Given the description of an element on the screen output the (x, y) to click on. 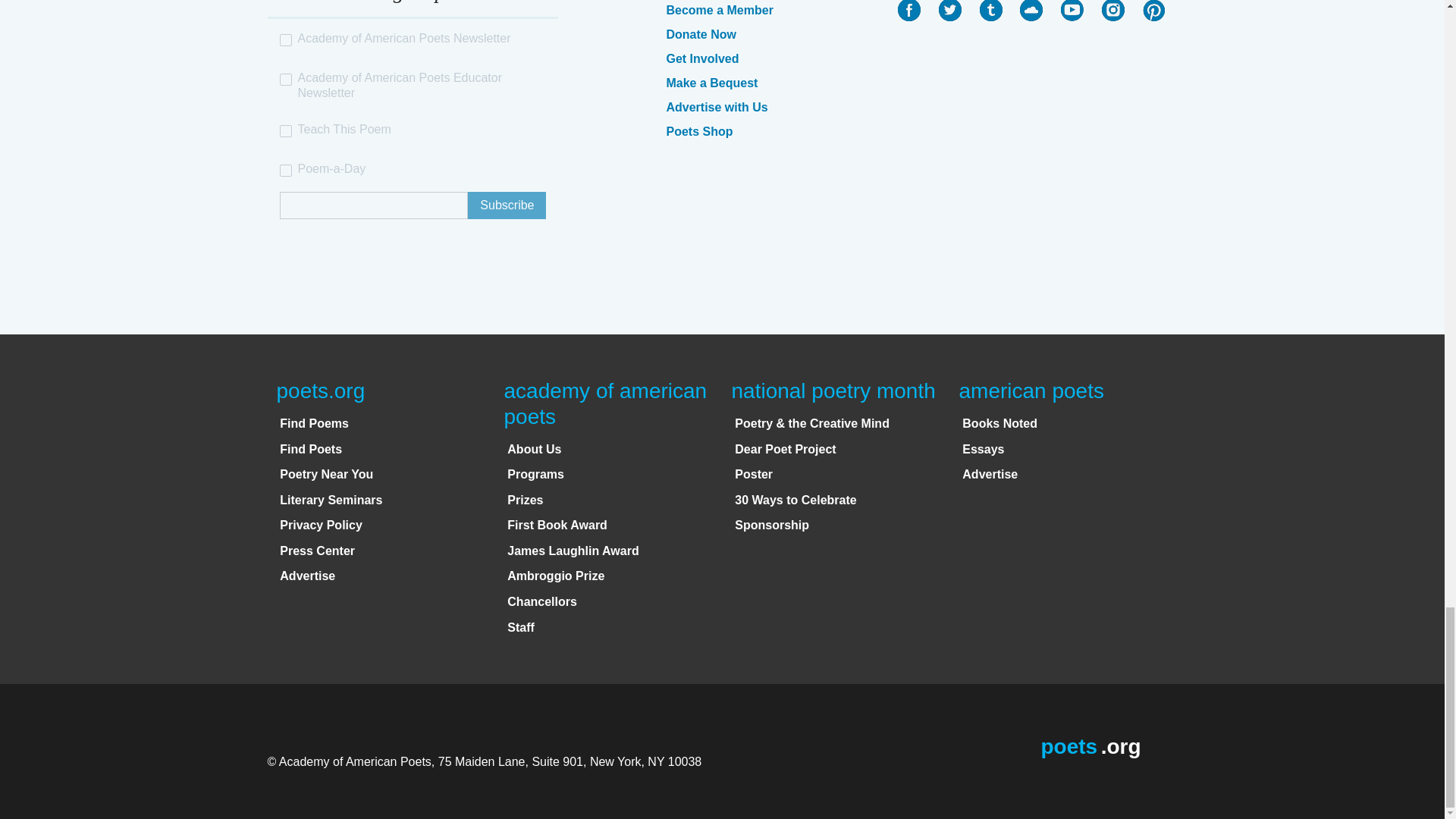
Literary Seminars (330, 499)
Subscribe (506, 205)
Poetry Near You (325, 473)
